Given the description of an element on the screen output the (x, y) to click on. 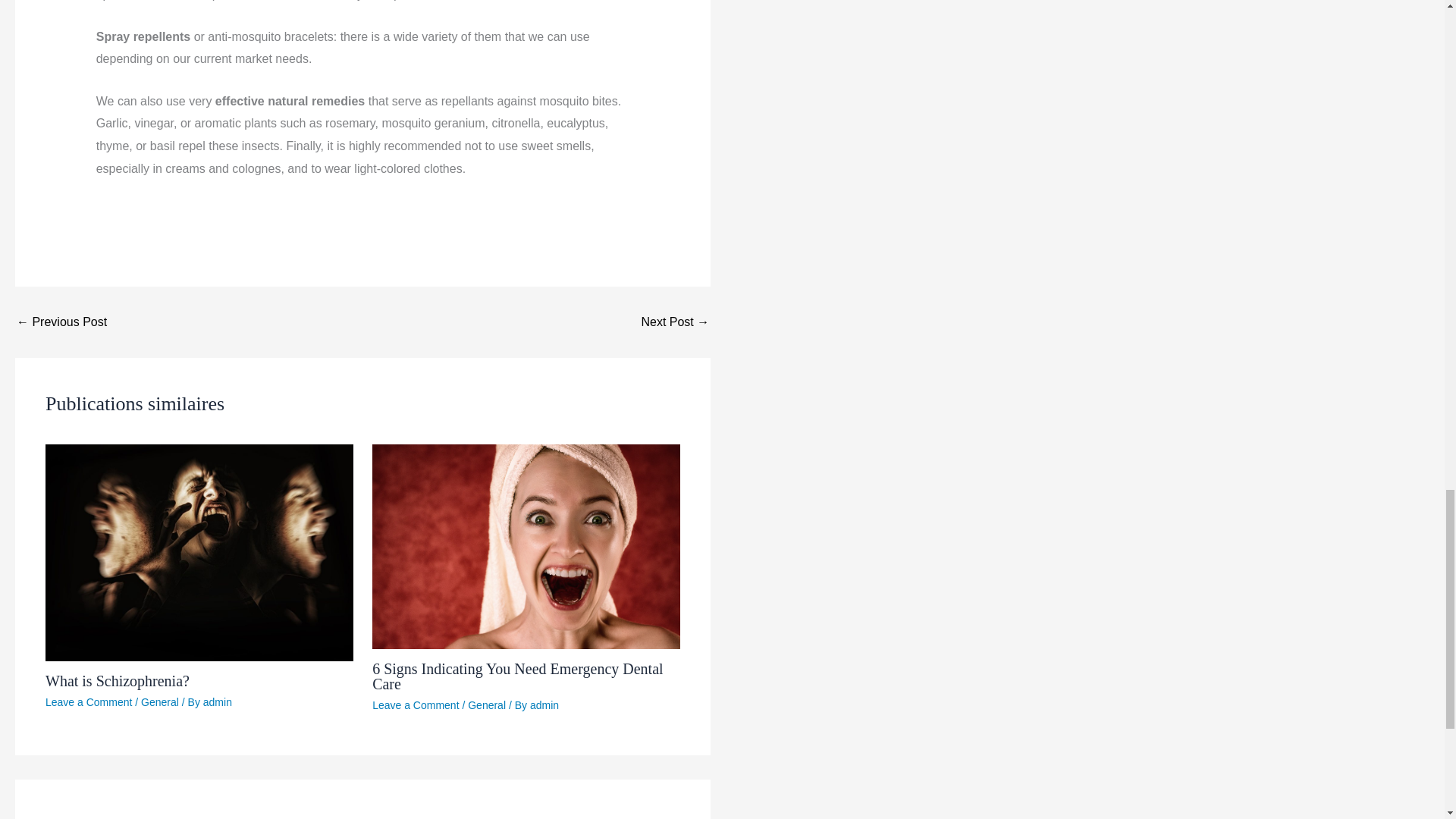
General (486, 705)
What is Schizophrenia? (117, 680)
Leave a Comment (415, 705)
Leave a Comment (88, 702)
View all posts by admin (217, 702)
View all posts by admin (544, 705)
admin (217, 702)
General (160, 702)
6 Signs Indicating You Need Emergency Dental Care (517, 676)
admin (544, 705)
Rest Days: Why Are They Important When Training? (61, 322)
